Given the description of an element on the screen output the (x, y) to click on. 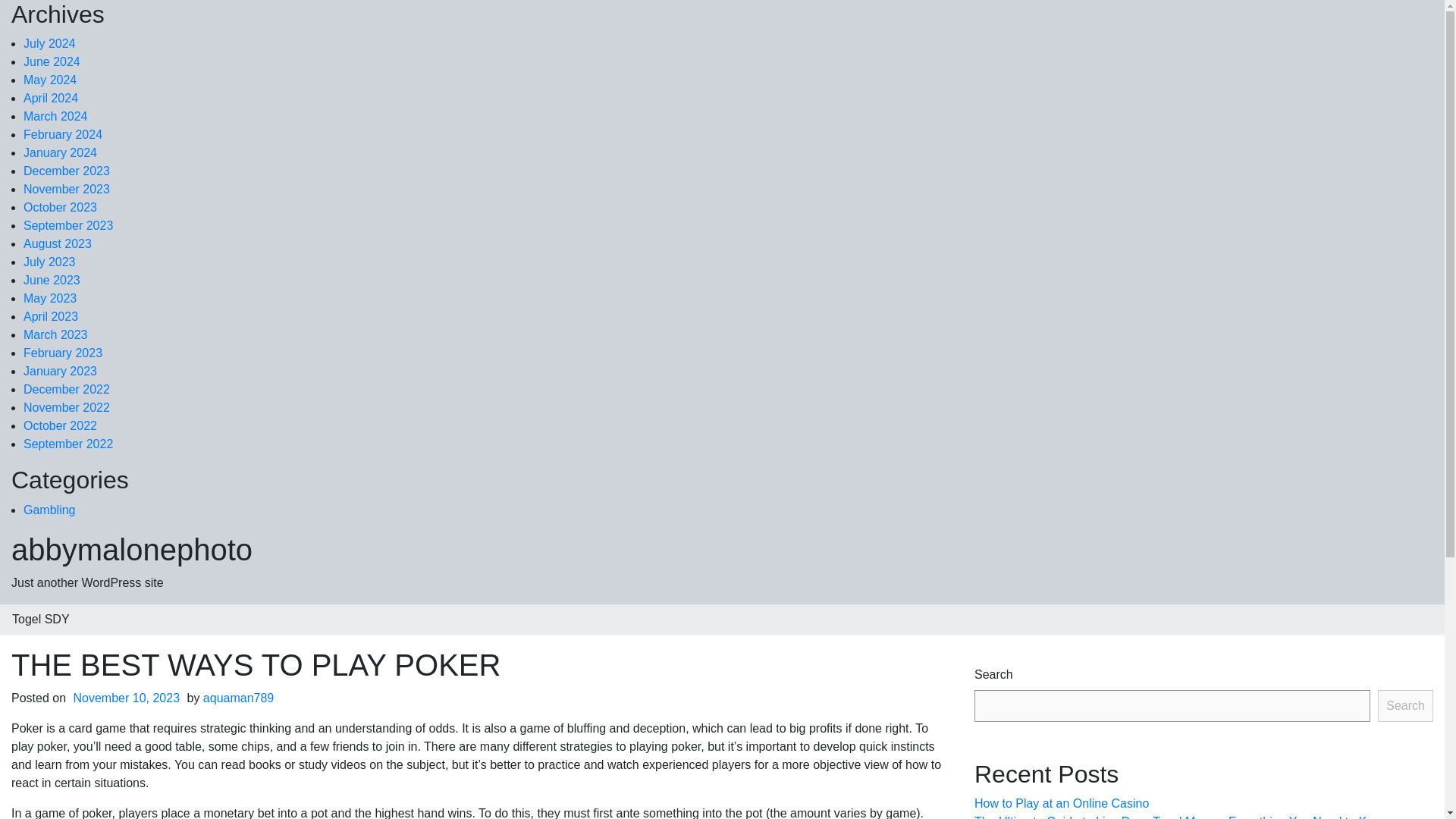
March 2023 (55, 334)
October 2023 (60, 206)
April 2024 (50, 97)
abbymalonephoto (131, 549)
Togel SDY (40, 619)
September 2022 (68, 443)
Search (1404, 705)
November 10, 2023 (126, 697)
December 2023 (66, 170)
aquaman789 (238, 697)
March 2024 (55, 115)
January 2024 (60, 152)
September 2023 (68, 225)
How to Play at an Online Casino (1061, 802)
